Given the description of an element on the screen output the (x, y) to click on. 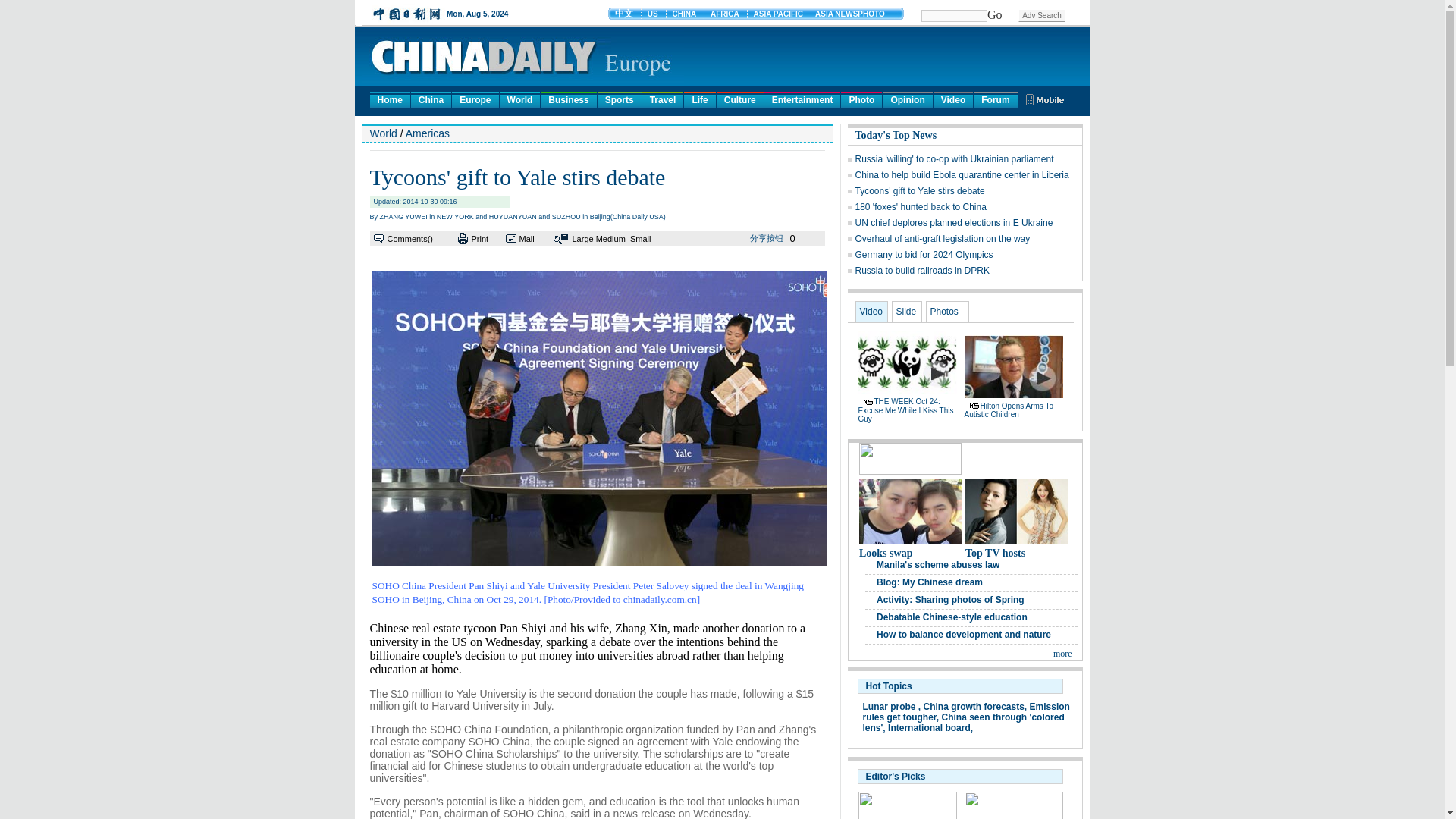
Travel (663, 99)
World (519, 99)
Home (389, 99)
Business (567, 99)
Life (699, 99)
Europe (474, 99)
Sports (619, 99)
China (430, 99)
